Given the description of an element on the screen output the (x, y) to click on. 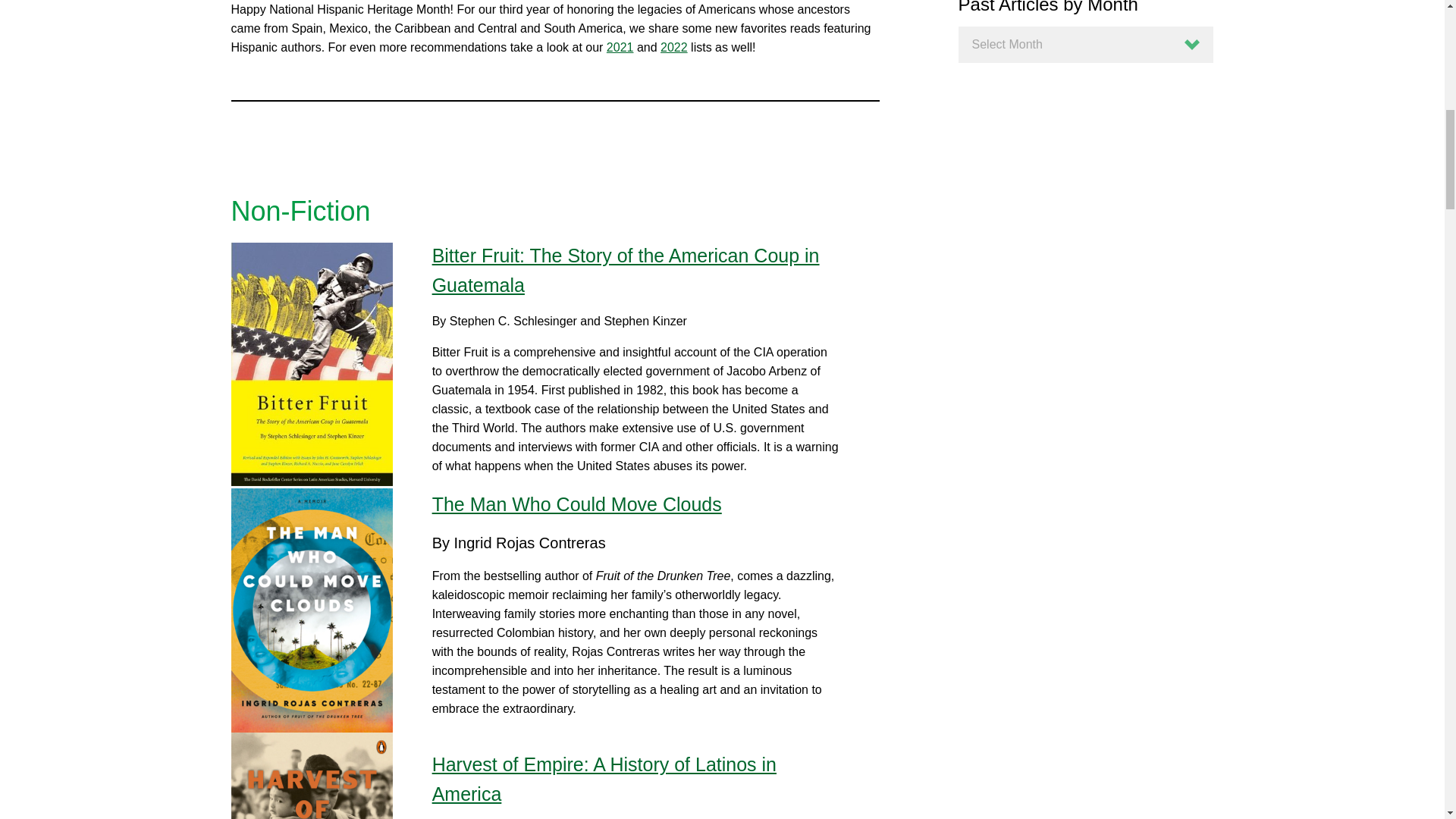
2021 (620, 47)
Harvest of Empire: A History of Latinos in America (604, 778)
The Man Who Could Move Clouds (577, 504)
2022 (674, 47)
Bitter Fruit: The Story of the American Coup in Guatemala (625, 269)
